Given the description of an element on the screen output the (x, y) to click on. 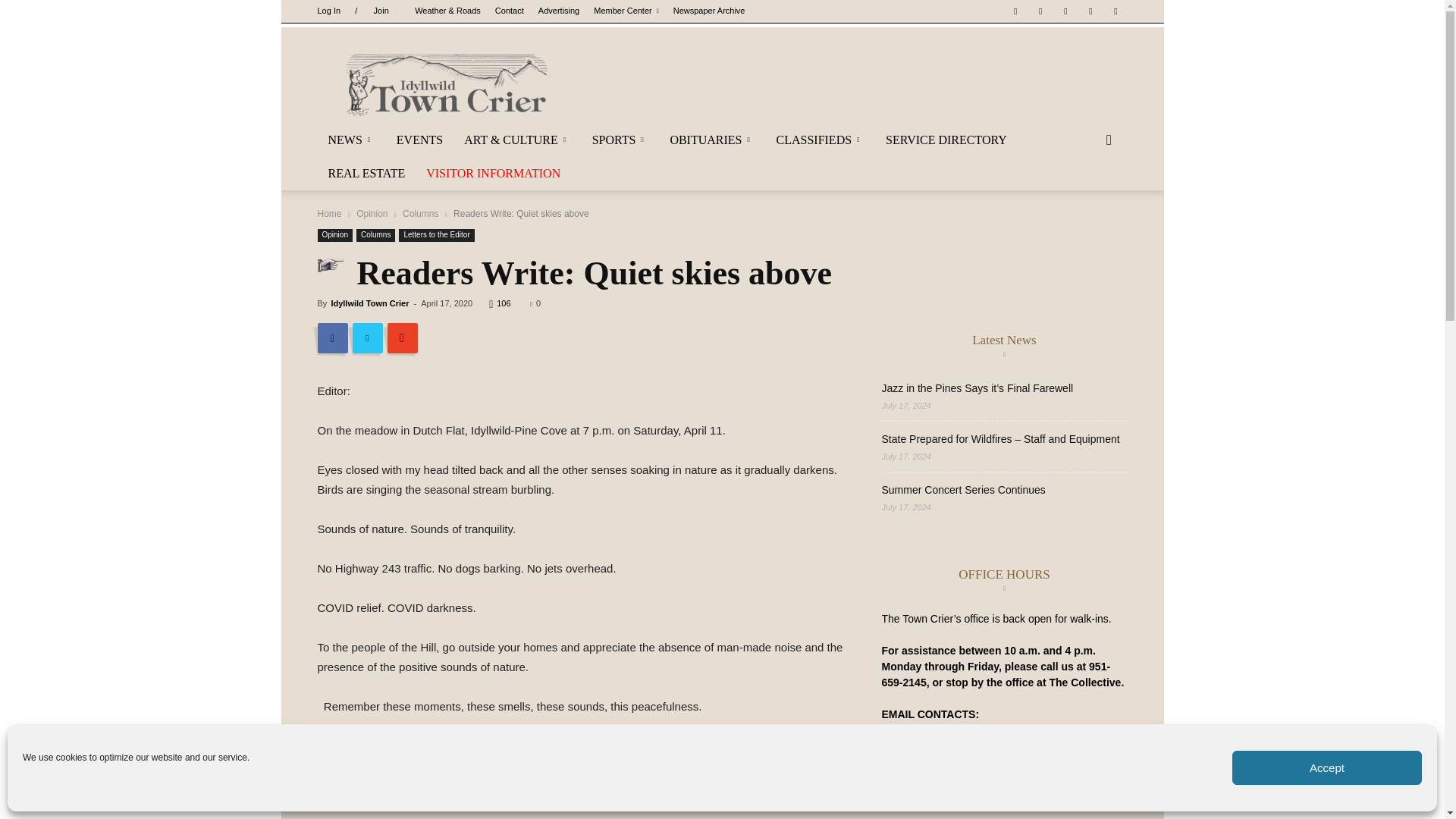
Facebook (1015, 10)
Accept (1326, 767)
Linkedin (1065, 10)
Youtube (1114, 10)
Twitter (1090, 10)
